Given the description of an element on the screen output the (x, y) to click on. 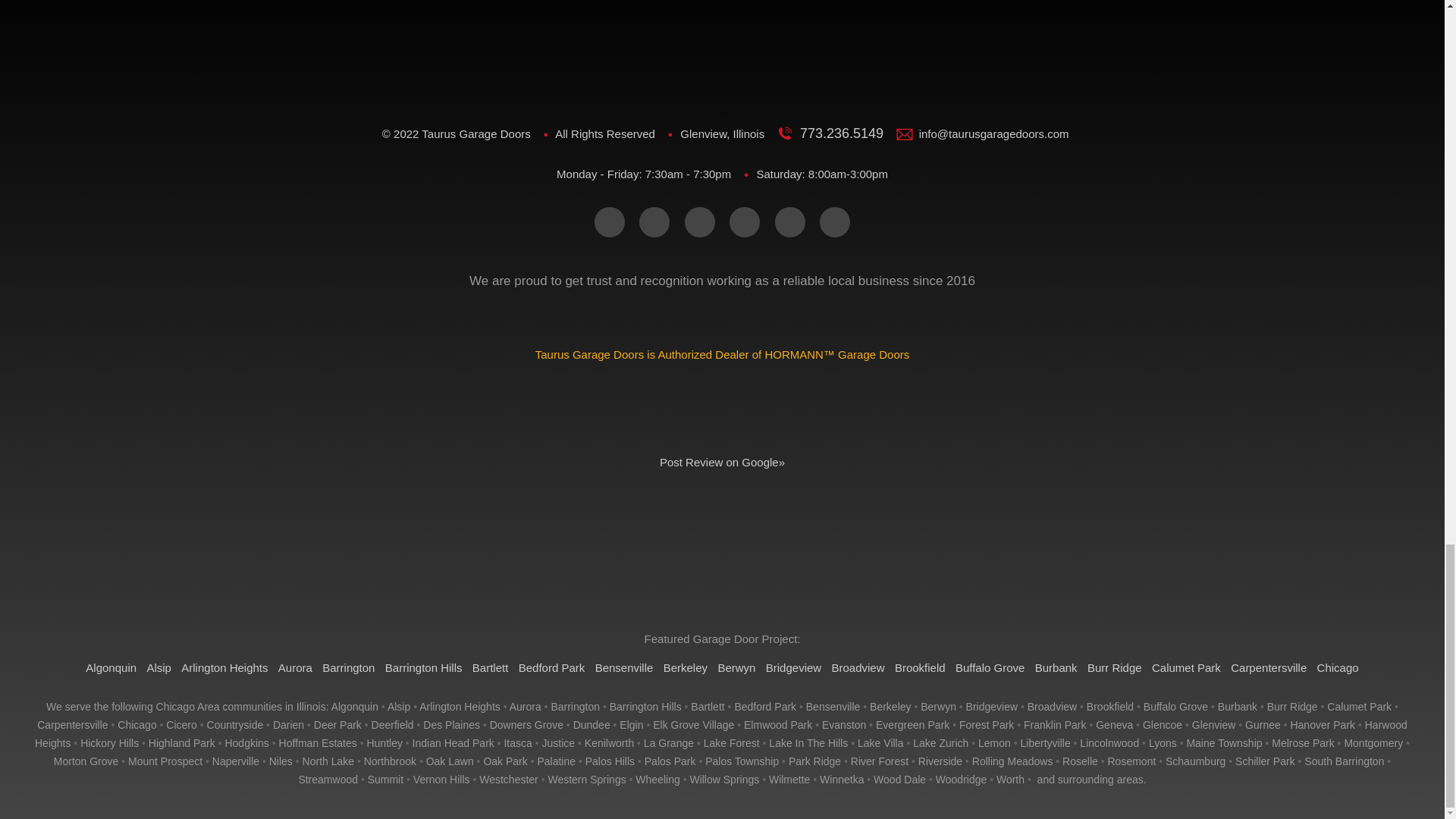
email (609, 222)
buffalo grove, Illinois Garage Doors (1175, 706)
berkeley, Illinois Garage Doors (890, 706)
burr ridge, Illinois Garage Doors (1291, 706)
alsip, Illinois Garage Doors (398, 706)
brookfield, Illinois Garage Doors (1110, 706)
burbank, Illinois Garage Doors (1237, 706)
aurora, Illinois Garage Doors (525, 706)
bridgeview, Illinois Garage Doors (991, 706)
barrington hills, Illinois Garage Doors (645, 706)
algonquin, Illinois Garage Doors (354, 706)
berwyn, Illinois Garage Doors (938, 706)
arlington heights, Illinois Garage Doors (459, 706)
barrington, Illinois Garage Doors (574, 706)
bedford park, Illinois Garage Doors (764, 706)
